Given the description of an element on the screen output the (x, y) to click on. 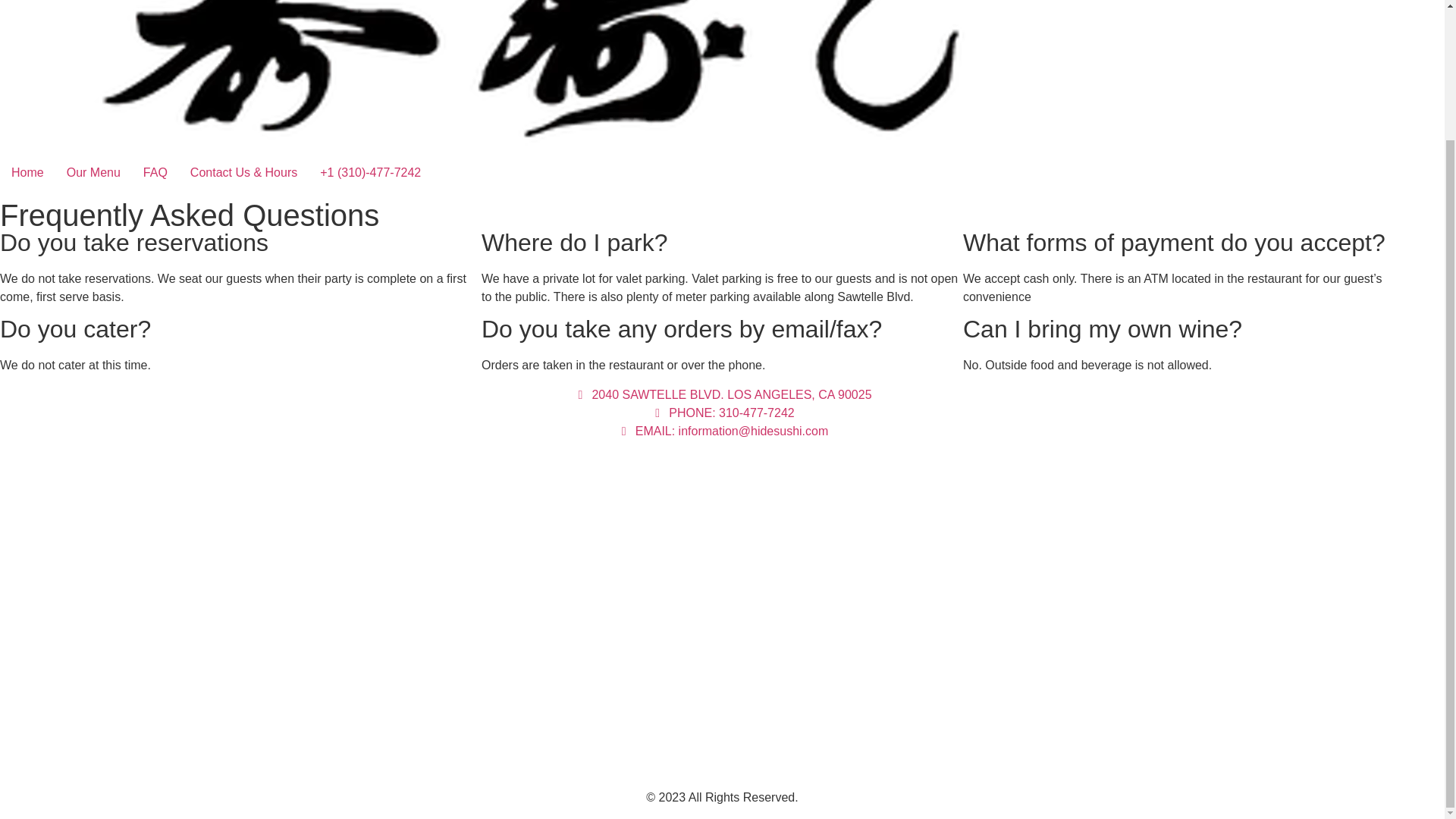
FAQ (155, 173)
Home (27, 173)
Our Menu (93, 173)
